Given the description of an element on the screen output the (x, y) to click on. 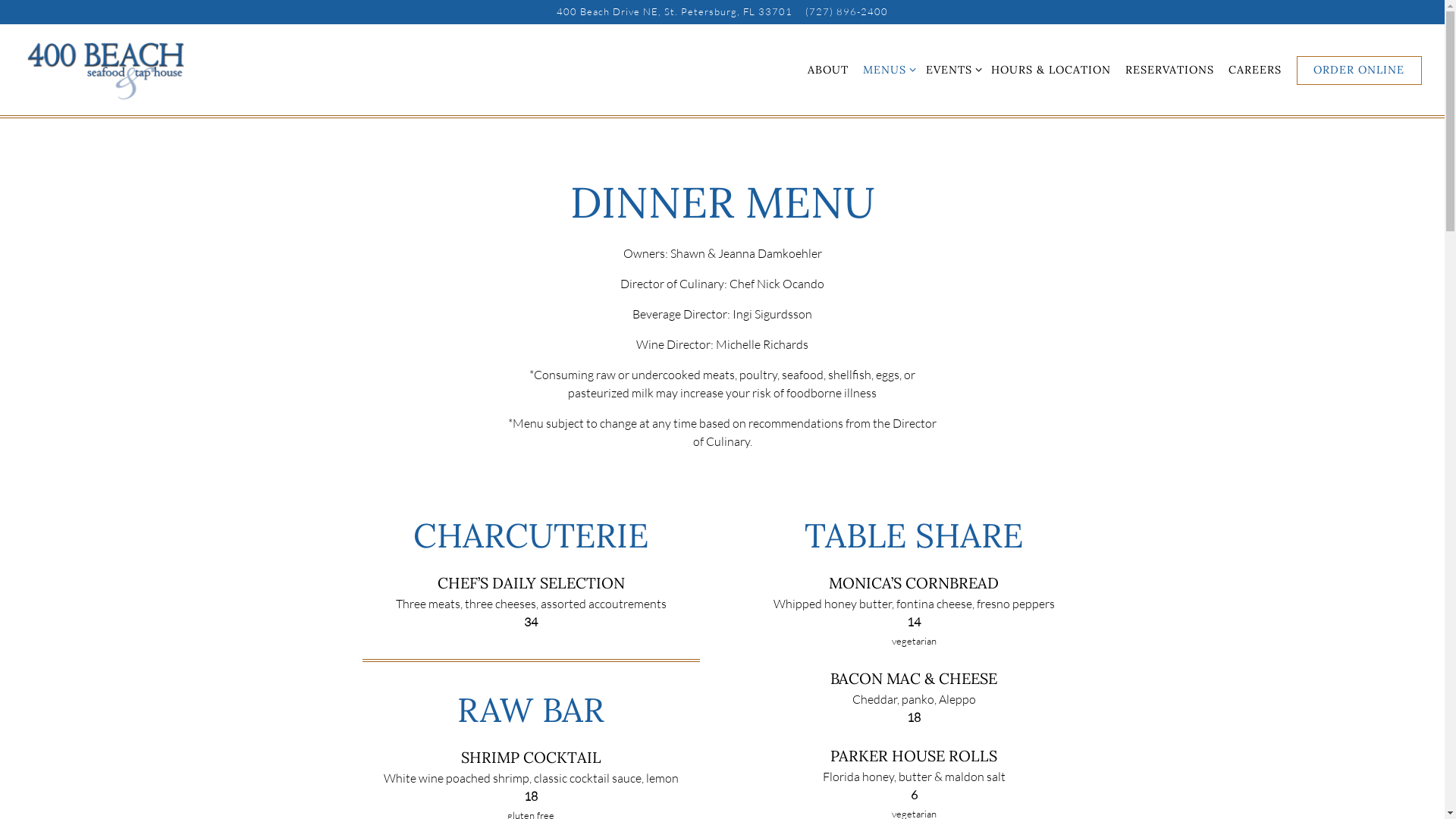
MENUS Element type: text (884, 70)
(727) 896-2400 Element type: text (846, 11)
ORDER ONLINE Element type: text (1358, 70)
CAREERS Element type: text (1254, 70)
RESERVATIONS Element type: text (1169, 70)
ABOUT Element type: text (827, 70)
EVENTS Element type: text (947, 70)
400 Beach Drive NE, St. Petersburg, FL 33701 Element type: text (674, 11)
HOURS & LOCATION Element type: text (1050, 70)
